Given the description of an element on the screen output the (x, y) to click on. 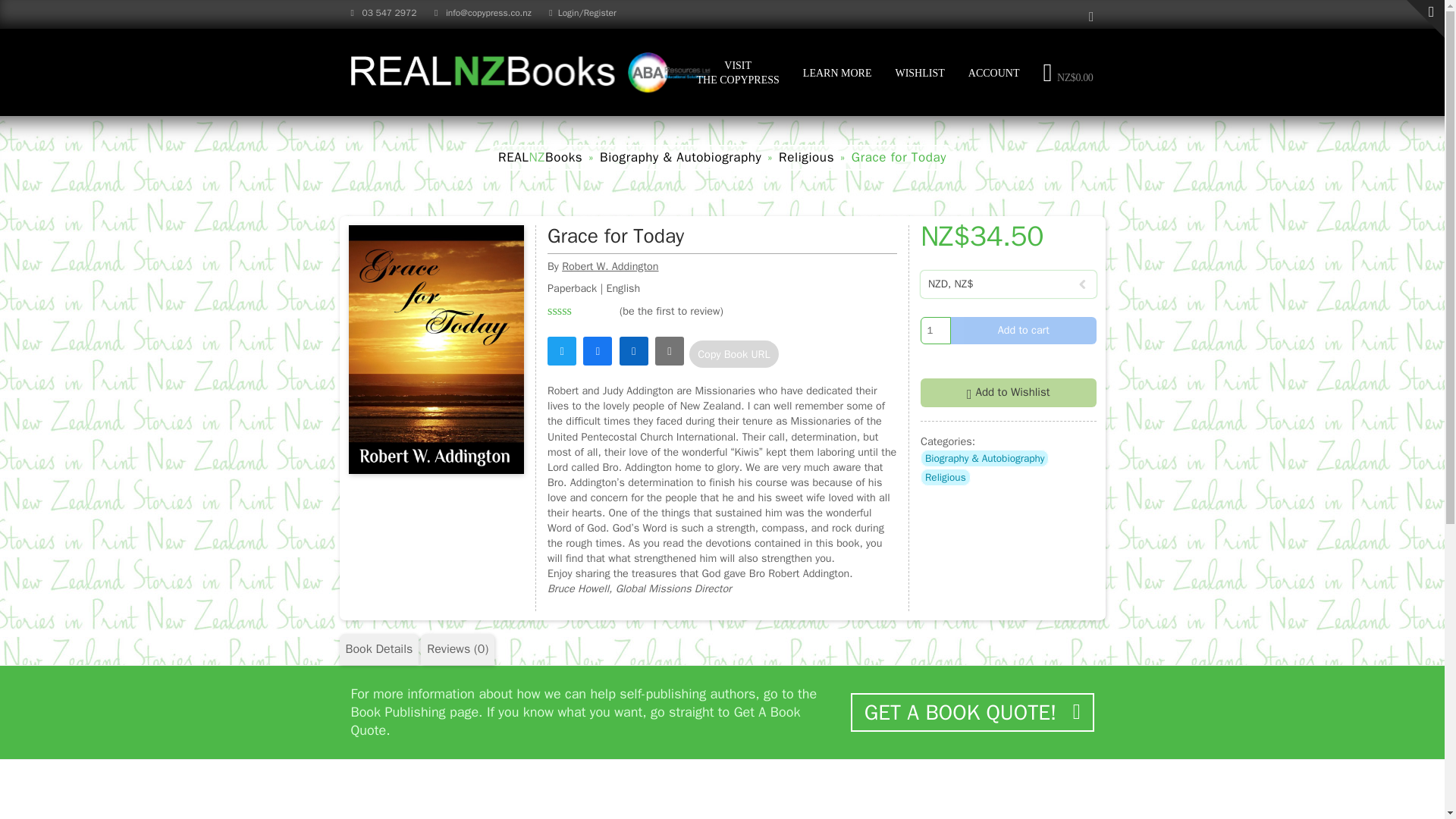
Copy Book URL (732, 353)
Add to cart (1023, 329)
1 (935, 329)
be the first to review (671, 310)
Add to Wishlist (1008, 392)
LEARN MORE (837, 72)
Religious (806, 157)
REALNZBooks (539, 157)
Robert W. Addington (610, 265)
Book Details (379, 649)
GET A BOOK QUOTE! (971, 712)
Religious (945, 477)
